Given the description of an element on the screen output the (x, y) to click on. 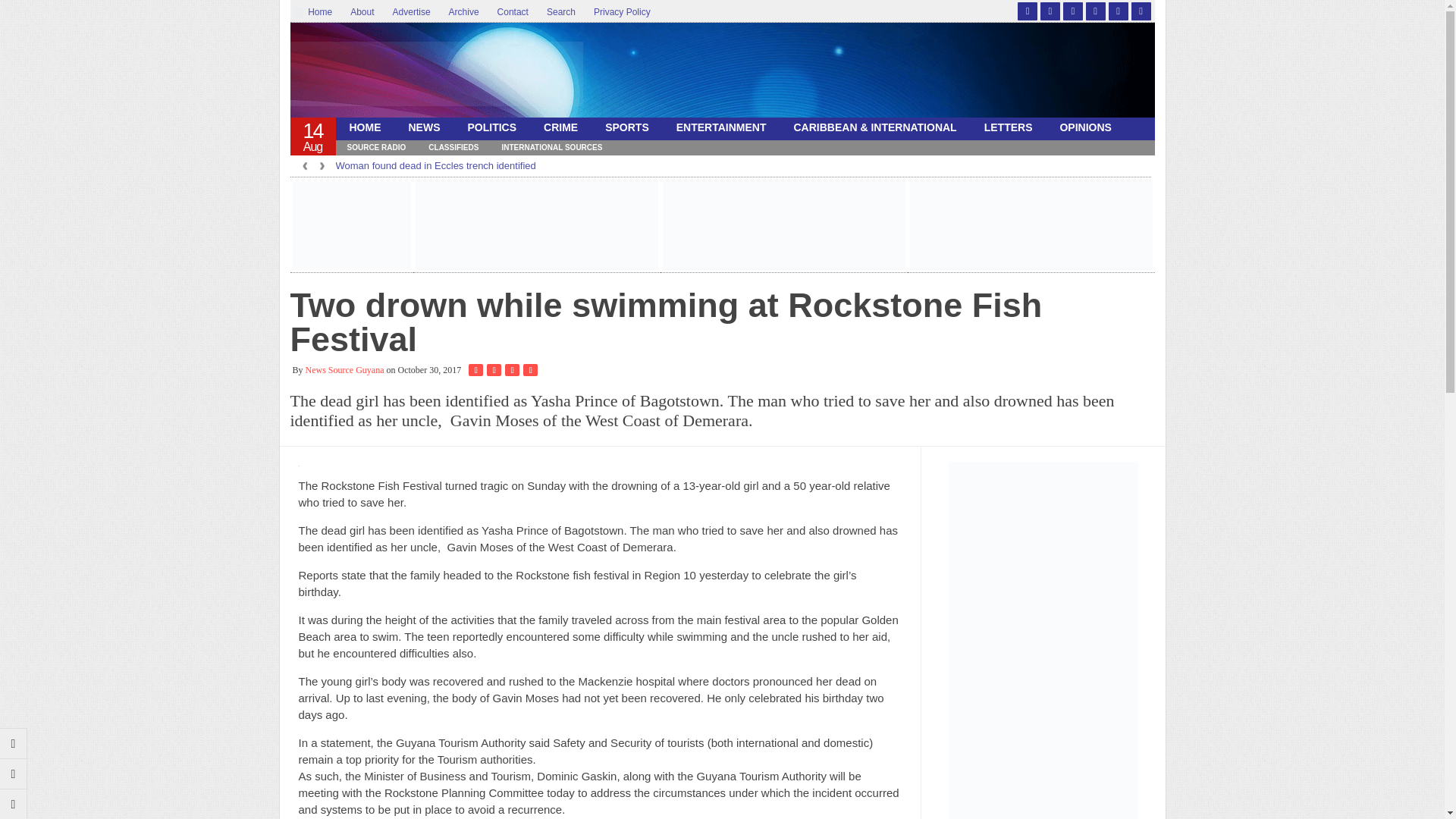
NEWS (423, 127)
Search (561, 12)
POLITICS (490, 127)
SOURCE RADIO (375, 147)
SPORTS (626, 127)
CRIME (560, 127)
Go to homepage (13, 803)
News Source Guyana (435, 73)
